Given the description of an element on the screen output the (x, y) to click on. 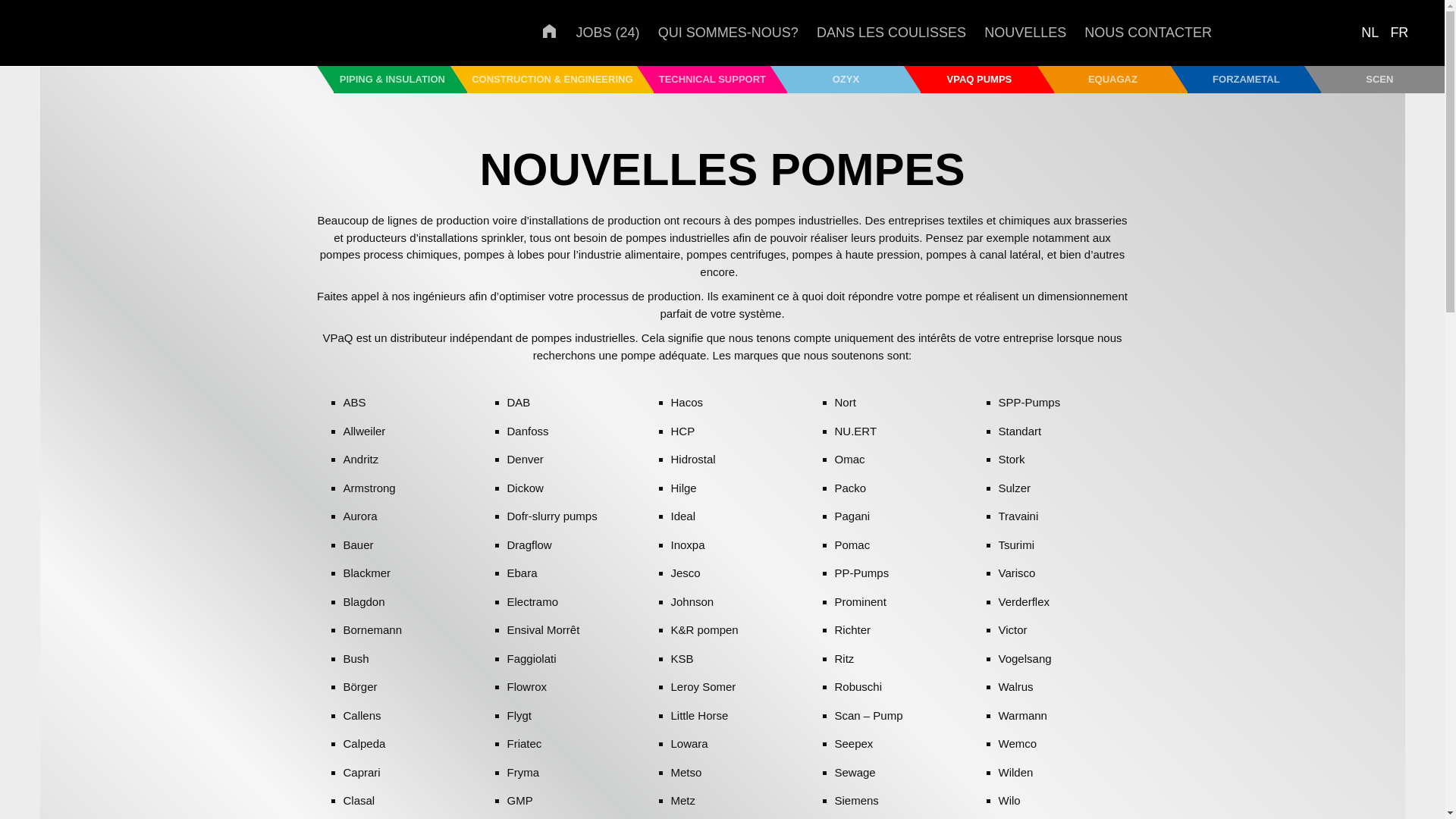
Callewaert Industries Element type: text (108, 29)
NL Element type: text (1369, 32)
CONSTRUCTION & ENGINEERING Element type: text (561, 79)
VPAQ PUMPS Element type: text (988, 79)
EQUAGAZ Element type: text (1122, 79)
FR Element type: text (1399, 32)
NOUS CONTACTER Element type: text (1147, 32)
PIPING & INSULATION Element type: text (401, 79)
DANS LES COULISSES Element type: text (891, 32)
QUI SOMMES-NOUS? Element type: text (728, 32)
ACCUEIL Element type: text (549, 32)
FORZAMETAL Element type: text (1255, 79)
NOUVELLES Element type: text (1025, 31)
Aller au contenu principal Element type: text (0, 66)
JOBS (24) Element type: text (607, 32)
TECHNICAL SUPPORT Element type: text (721, 79)
OZYX Element type: text (855, 79)
